Given the description of an element on the screen output the (x, y) to click on. 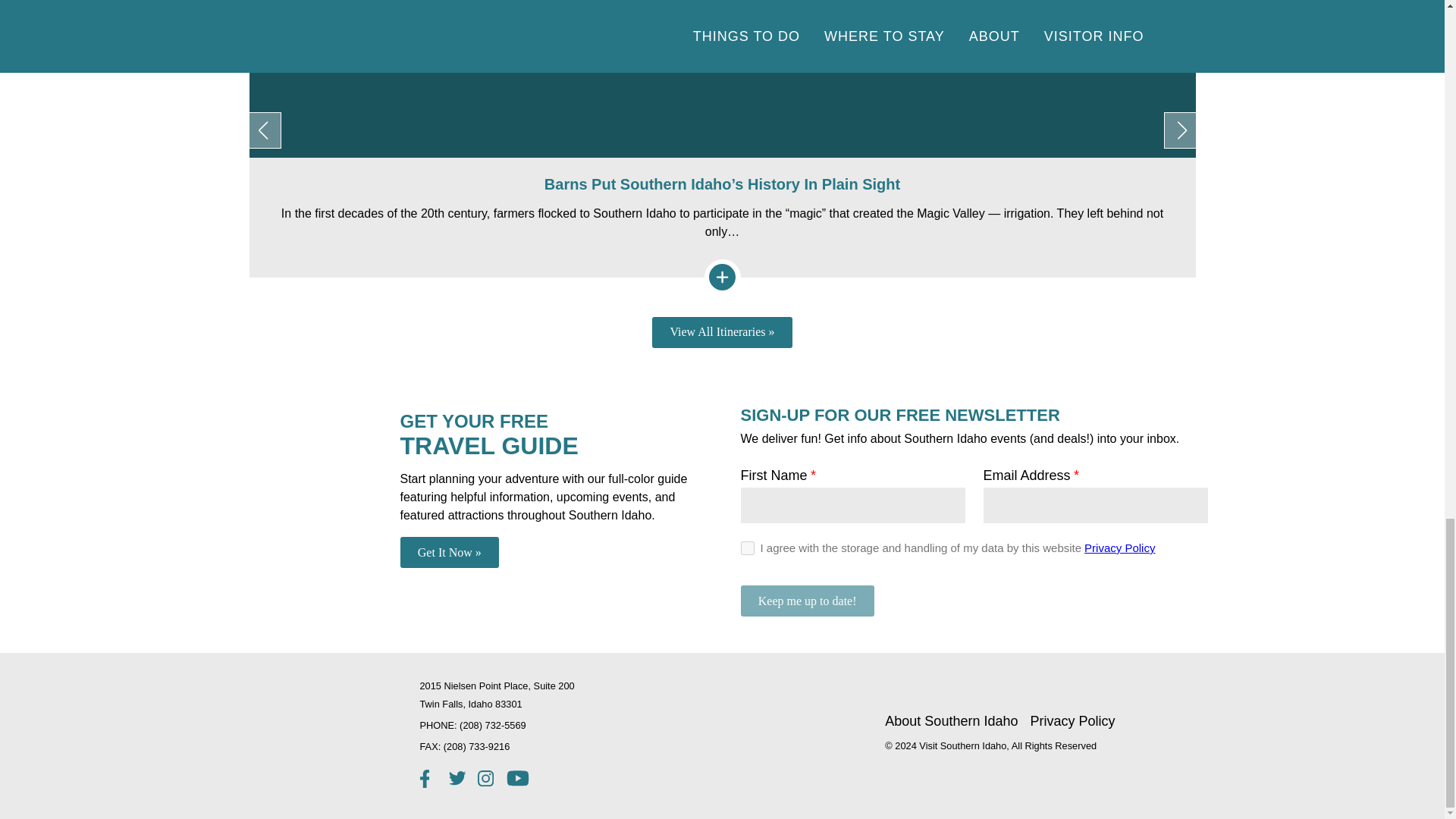
Keep me up to date! (806, 600)
